Given the description of an element on the screen output the (x, y) to click on. 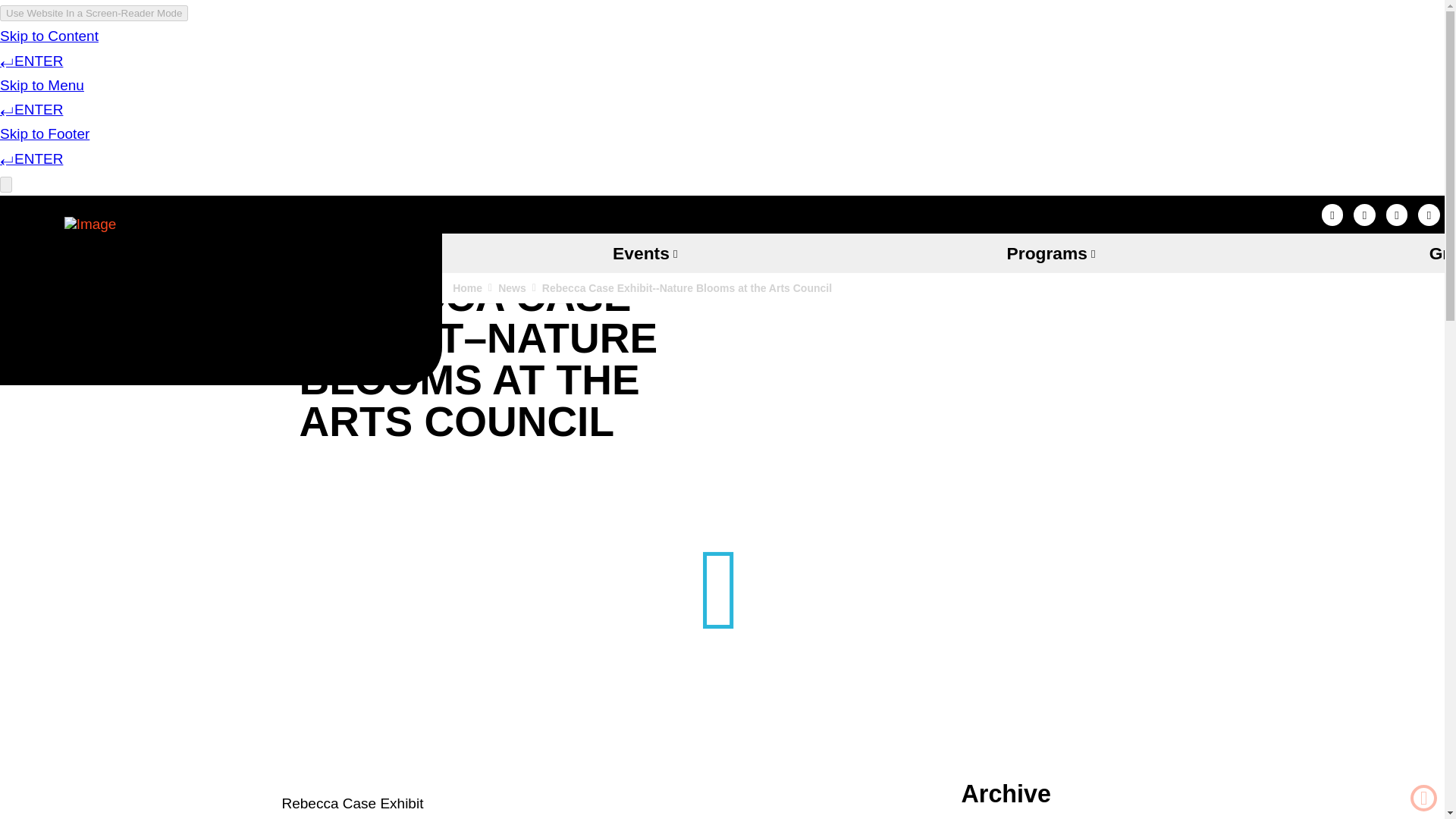
You Are Here (686, 287)
Events (644, 252)
Programs (1050, 252)
Grants (1354, 252)
Back to Top (1423, 797)
